Given the description of an element on the screen output the (x, y) to click on. 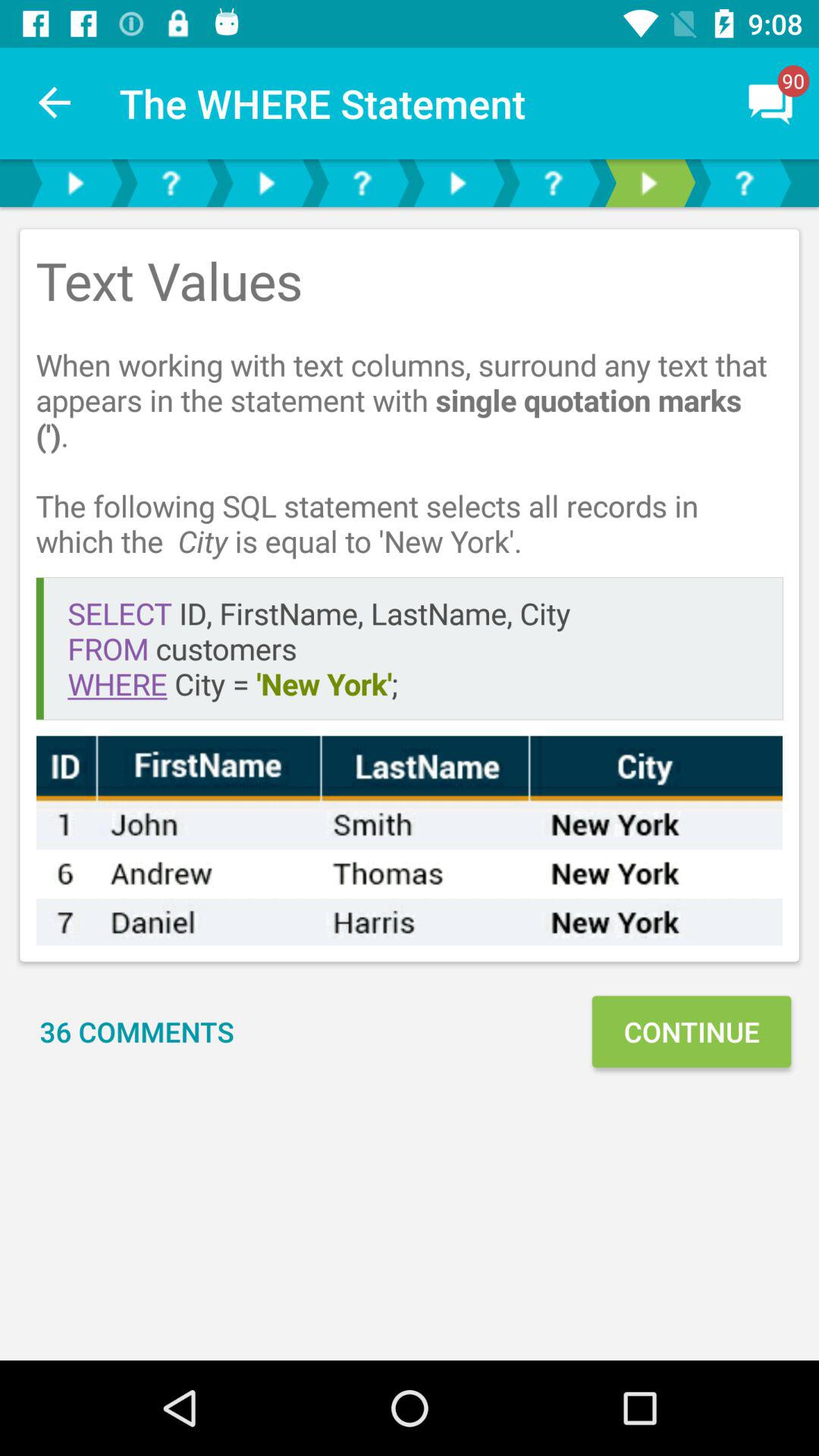
go forward (648, 183)
